Given the description of an element on the screen output the (x, y) to click on. 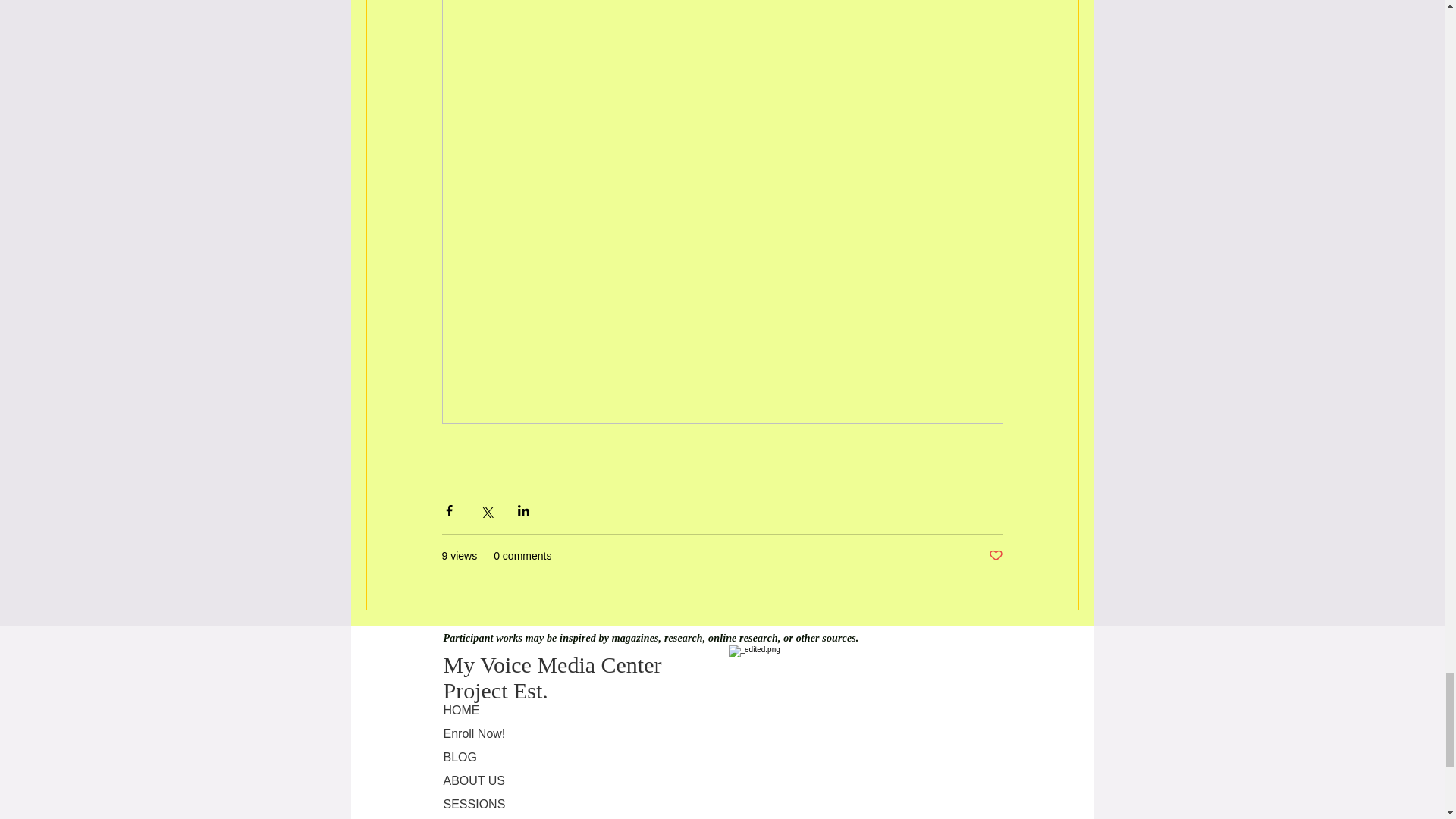
Post not marked as liked (995, 555)
BLOG (551, 757)
Enroll Now! (551, 734)
ABOUT US (551, 780)
HOME (551, 710)
SESSIONS (551, 804)
